Given the description of an element on the screen output the (x, y) to click on. 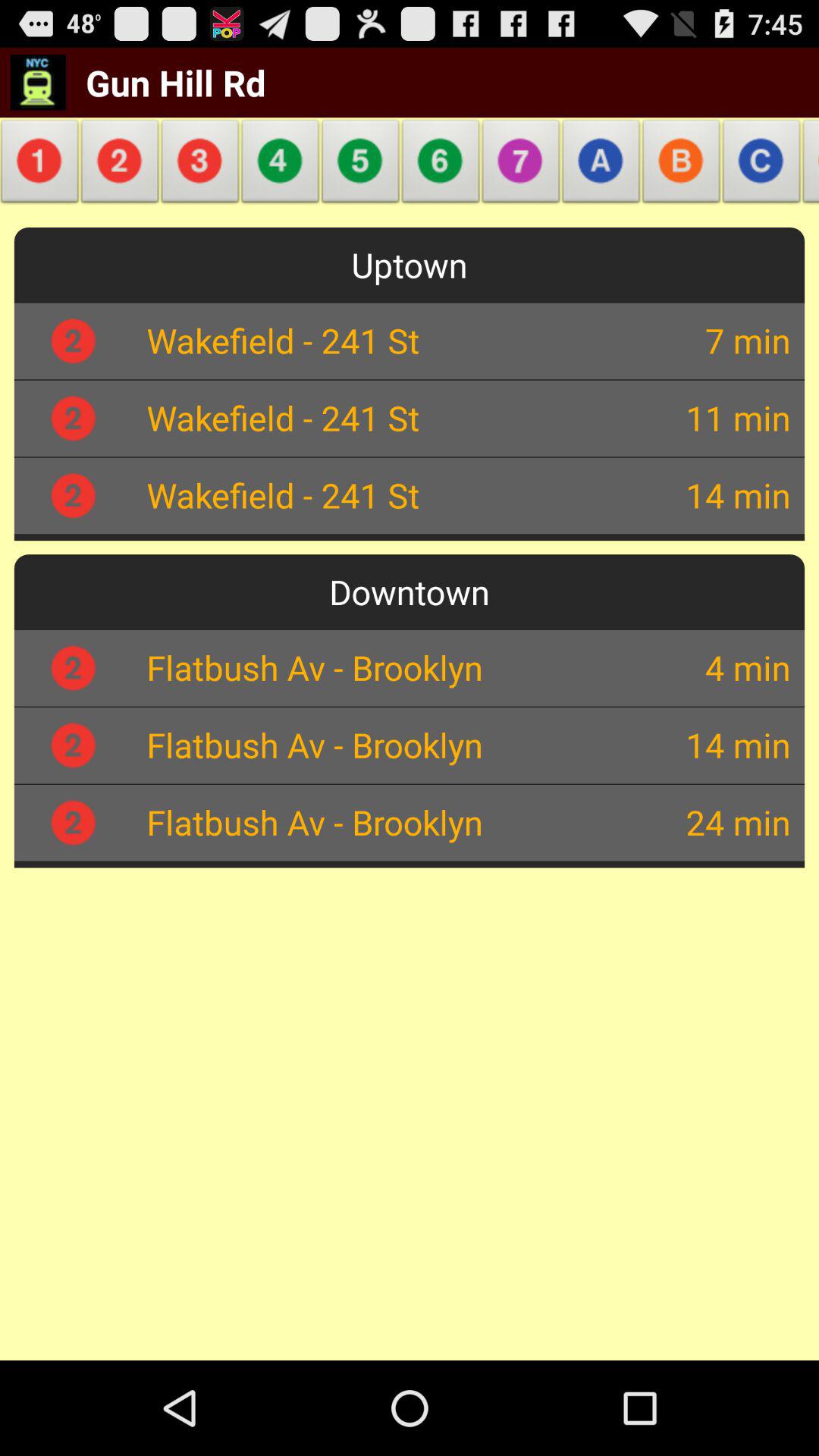
select icon above uptown icon (521, 165)
